Given the description of an element on the screen output the (x, y) to click on. 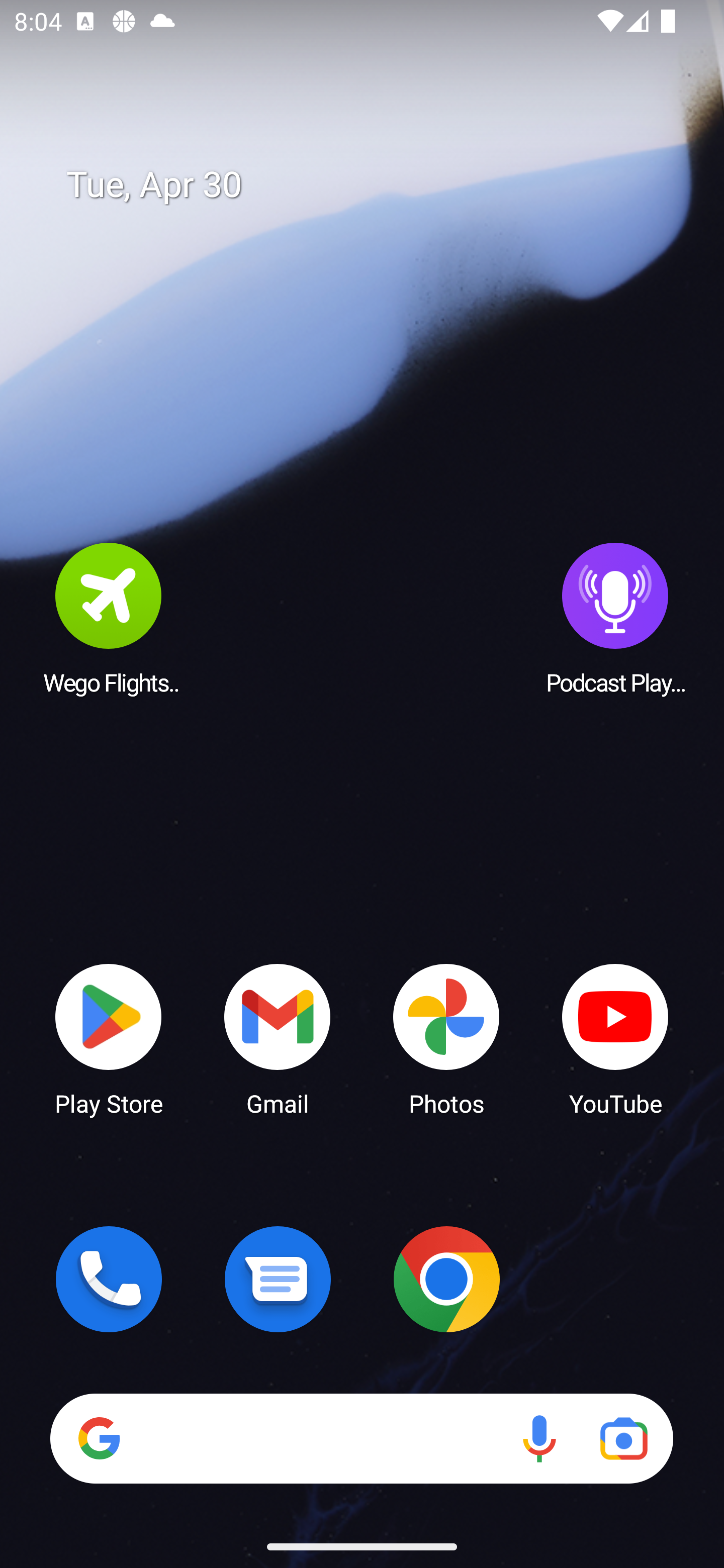
Tue, Apr 30 (375, 184)
Wego Flights & Hotels (108, 617)
Podcast Player (615, 617)
Play Store (108, 1038)
Gmail (277, 1038)
Photos (445, 1038)
YouTube (615, 1038)
Phone (108, 1279)
Messages (277, 1279)
Chrome (446, 1279)
Voice search (539, 1438)
Google Lens (623, 1438)
